Given the description of an element on the screen output the (x, y) to click on. 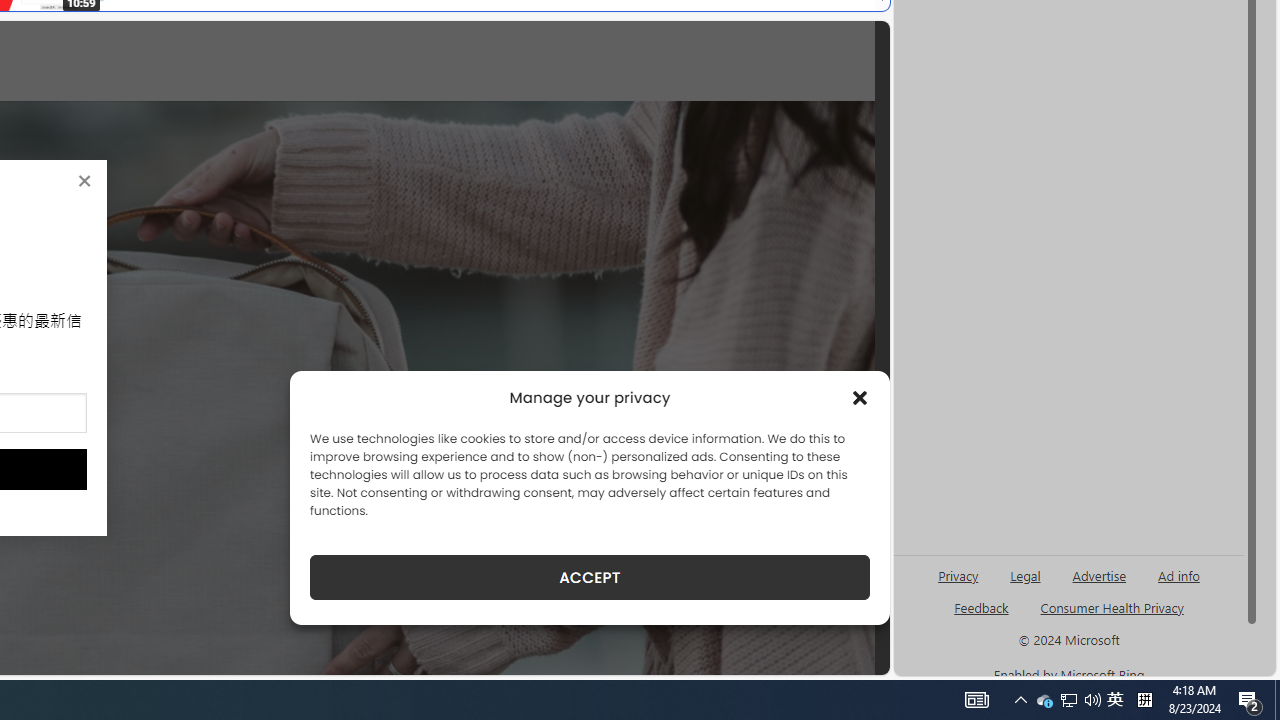
Class: cmplz-close (859, 398)
AutomationID: genId96 (981, 615)
AutomationID: sb_feedback (980, 607)
ACCEPT (589, 577)
